Given the description of an element on the screen output the (x, y) to click on. 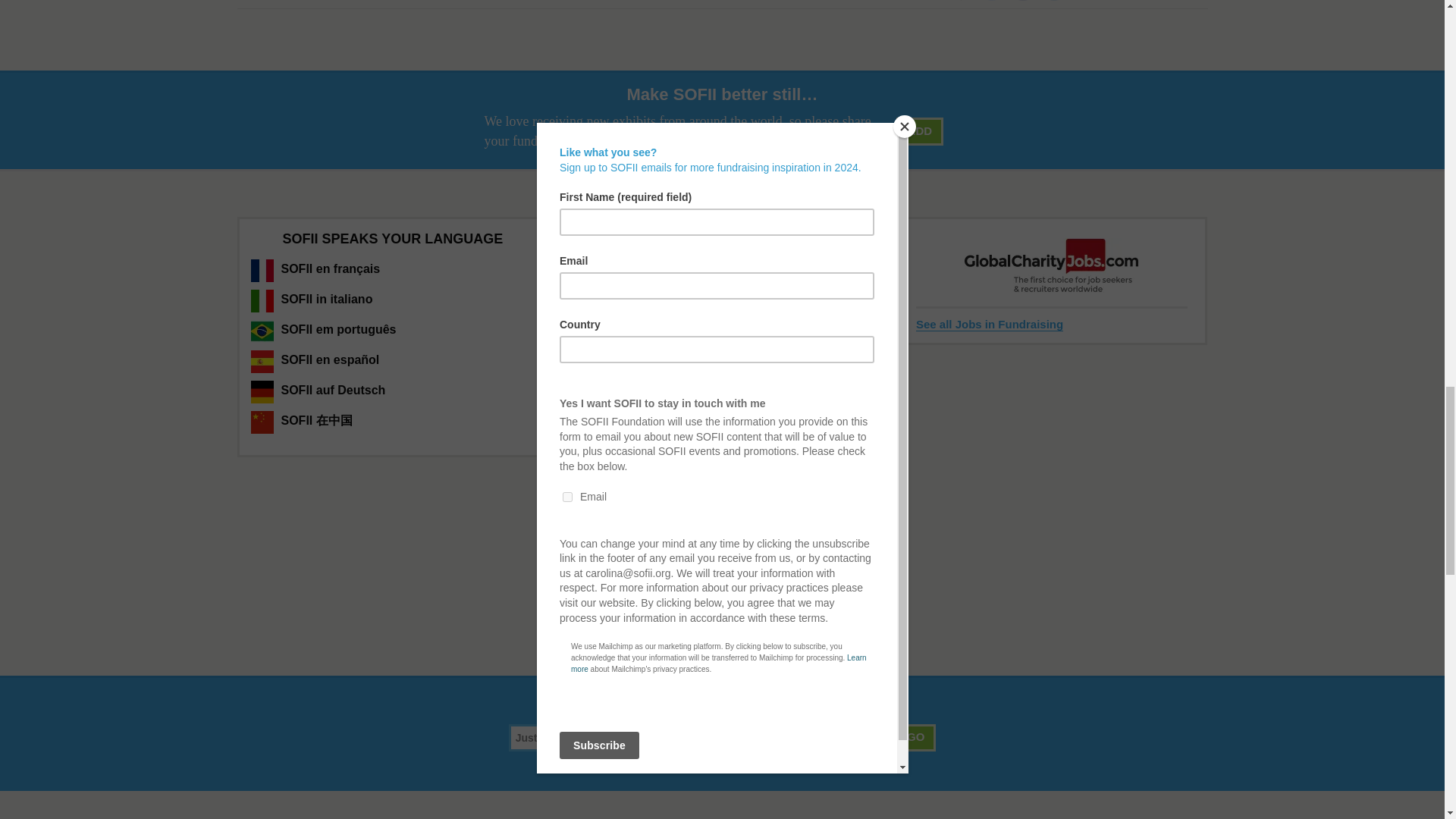
Go (915, 737)
